Given the description of an element on the screen output the (x, y) to click on. 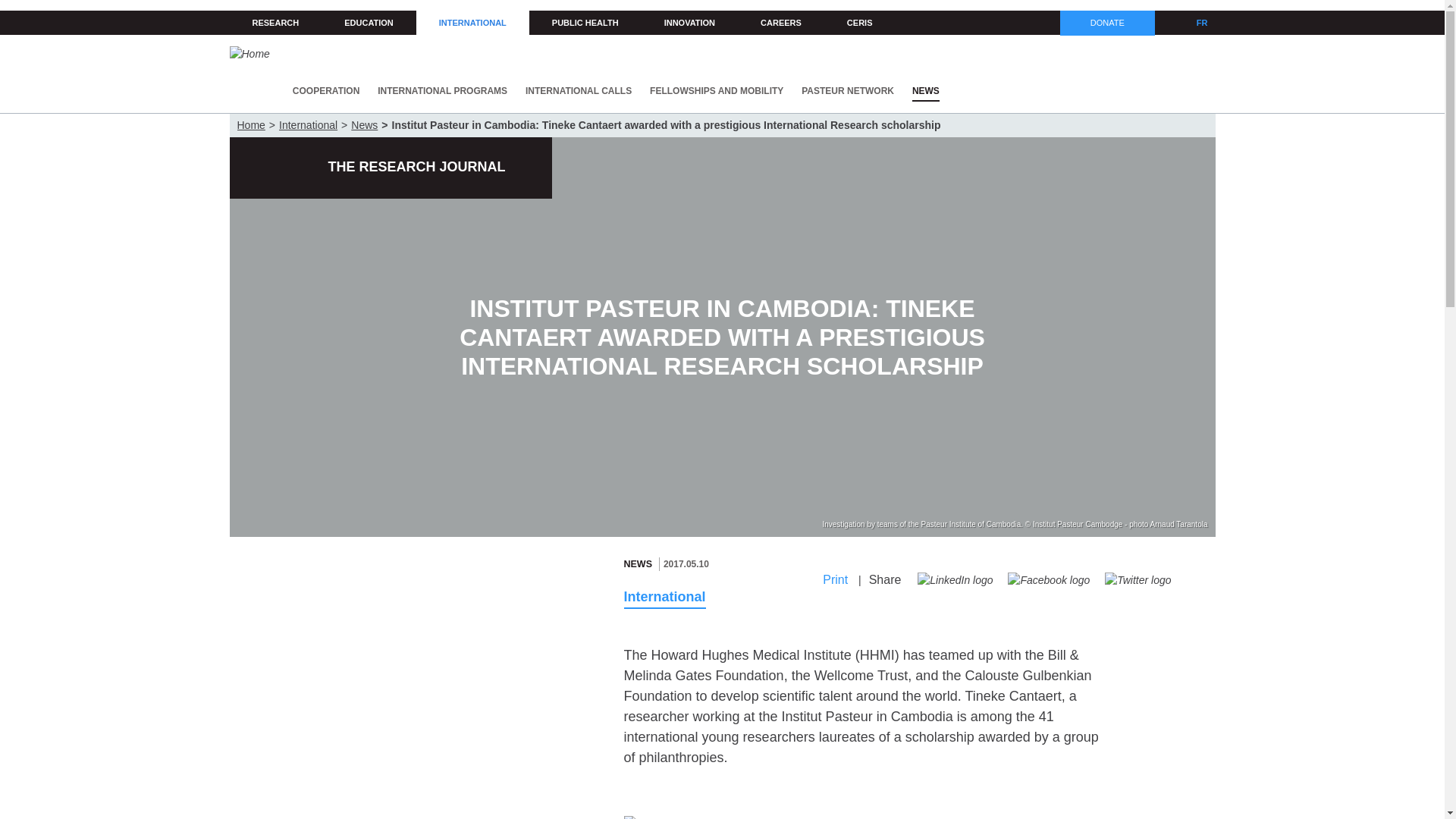
Publier cet article sur LinkedIn. (954, 580)
Partager sur Twitter (1137, 580)
Partager sur Facebook (1048, 580)
Home (248, 53)
